Given the description of an element on the screen output the (x, y) to click on. 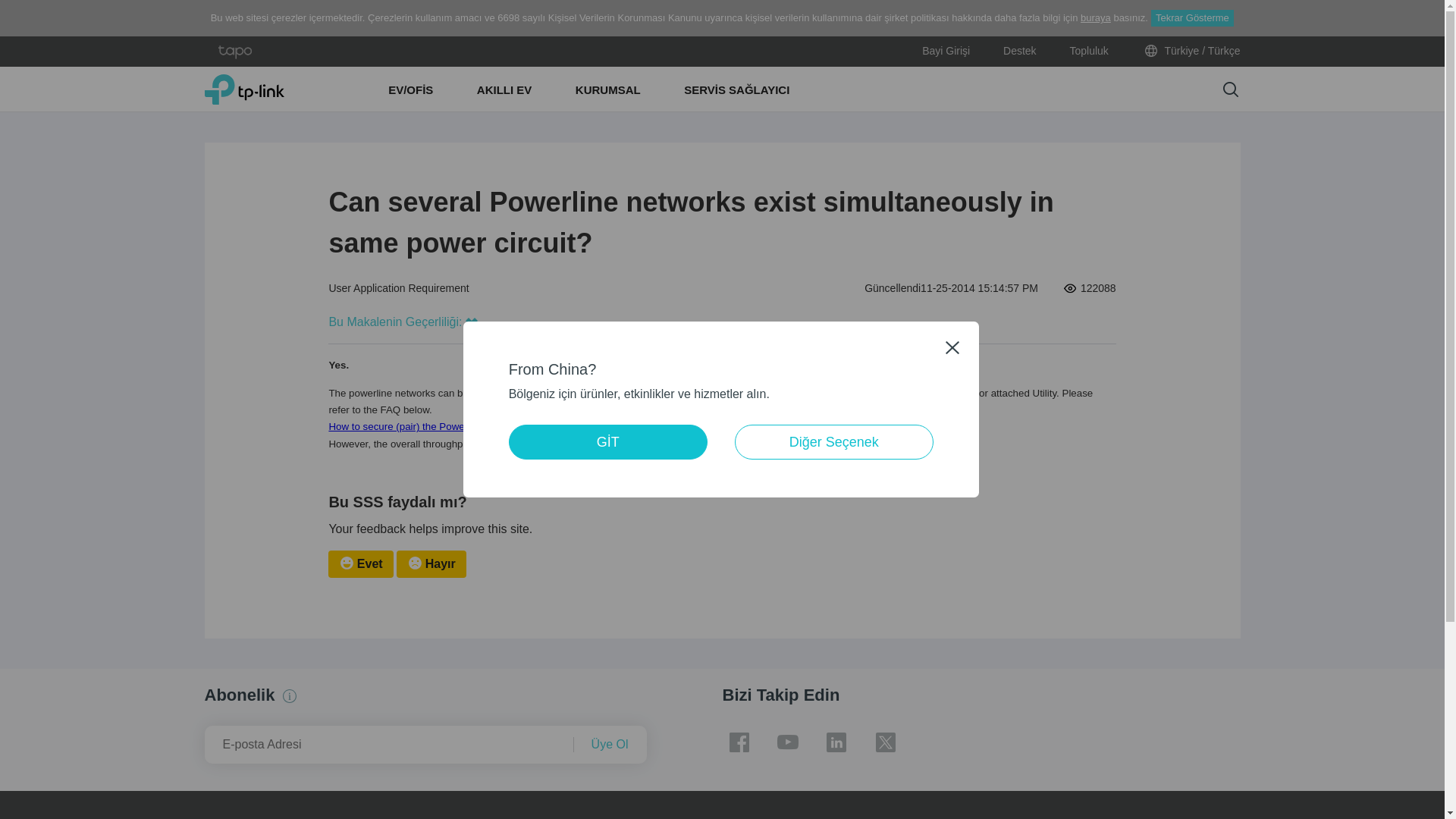
Topluluk (1088, 51)
TP-Link, Reliably Smart (244, 89)
Search (1230, 89)
Destek (1019, 51)
buraya (1095, 17)
tapo (234, 51)
